Given the description of an element on the screen output the (x, y) to click on. 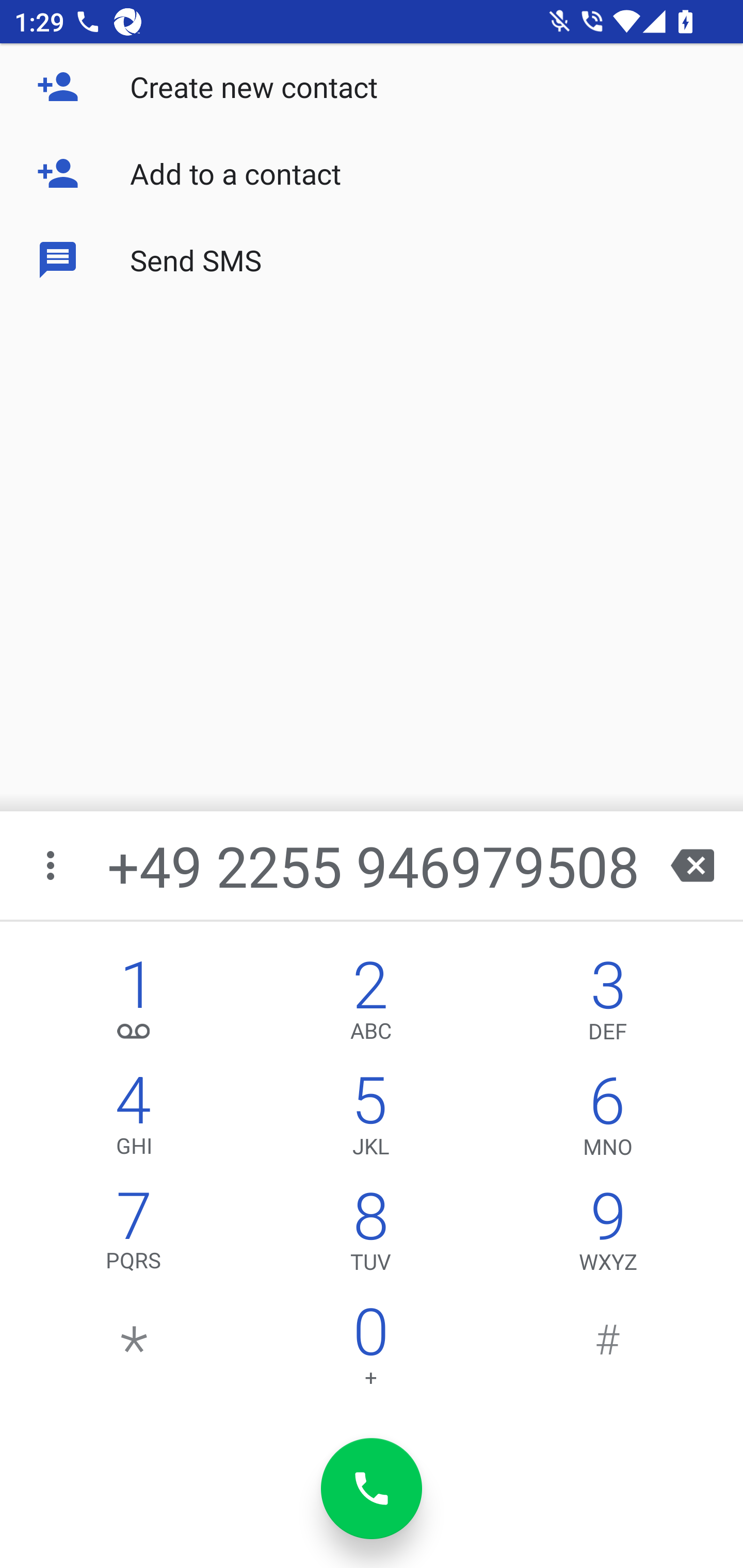
Create new contact (371, 86)
Add to a contact (371, 173)
Send SMS (371, 259)
+49 2255 946979508 (372, 865)
backspace (692, 865)
More options (52, 865)
1, 1 (133, 1005)
2,ABC 2 ABC (370, 1005)
3,DEF 3 DEF (607, 1005)
4,GHI 4 GHI (133, 1120)
5,JKL 5 JKL (370, 1120)
6,MNO 6 MNO (607, 1120)
7,PQRS 7 PQRS (133, 1235)
8,TUV 8 TUV (370, 1235)
9,WXYZ 9 WXYZ (607, 1235)
* (133, 1351)
0 0 + (370, 1351)
# (607, 1351)
dial (371, 1488)
